Given the description of an element on the screen output the (x, y) to click on. 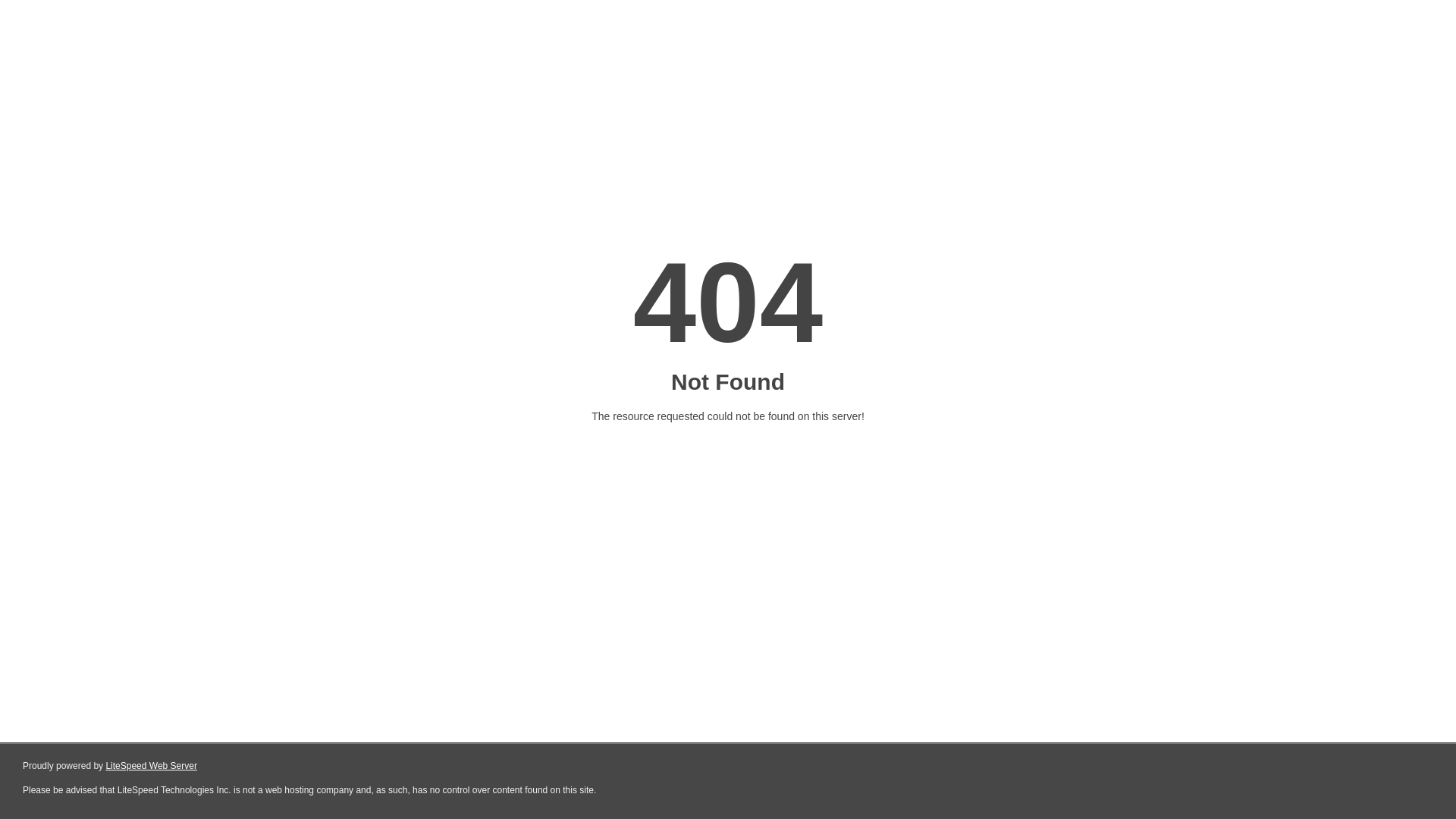
LiteSpeed Web Server Element type: text (151, 765)
